Given the description of an element on the screen output the (x, y) to click on. 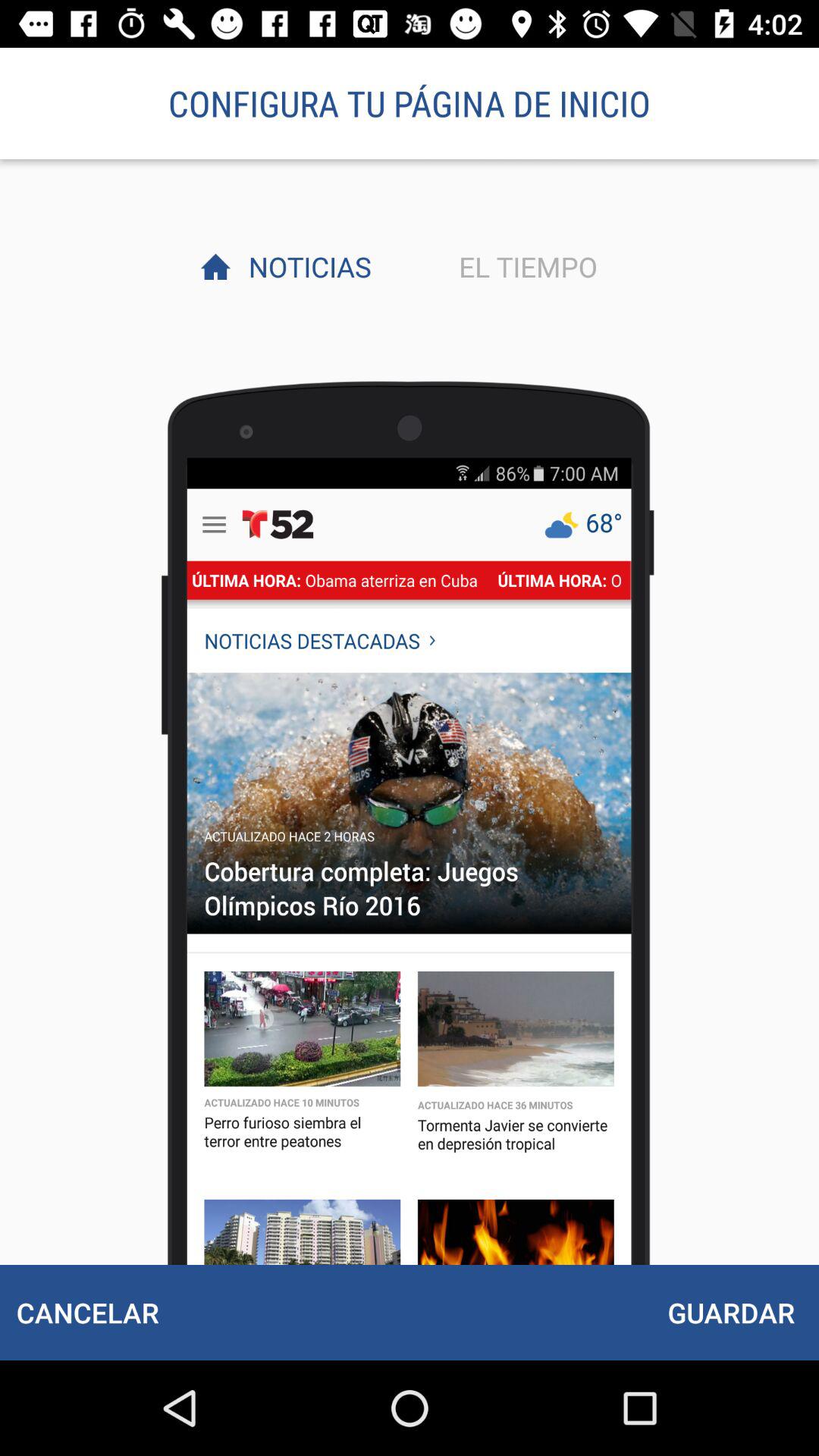
click icon above noticias icon (409, 103)
